Given the description of an element on the screen output the (x, y) to click on. 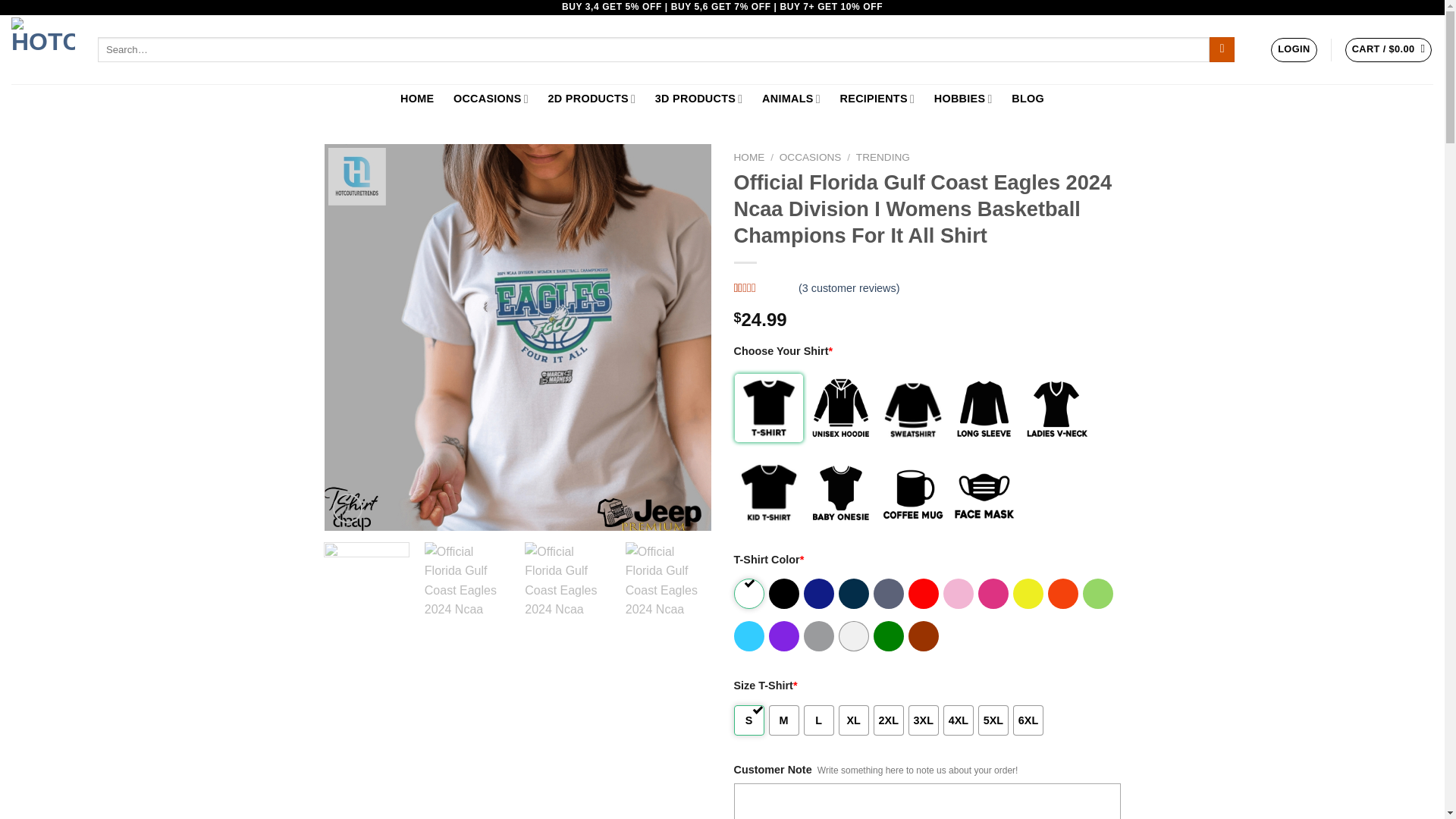
Zoom (347, 508)
2D PRODUCTS (591, 98)
OCCASIONS (491, 98)
HOME (417, 98)
Cart (1388, 49)
LOGIN (1293, 49)
RECIPIENTS (876, 98)
Search (1221, 49)
Hotcouturetrends (43, 48)
3D PRODUCTS (698, 98)
ANIMALS (790, 98)
